Given the description of an element on the screen output the (x, y) to click on. 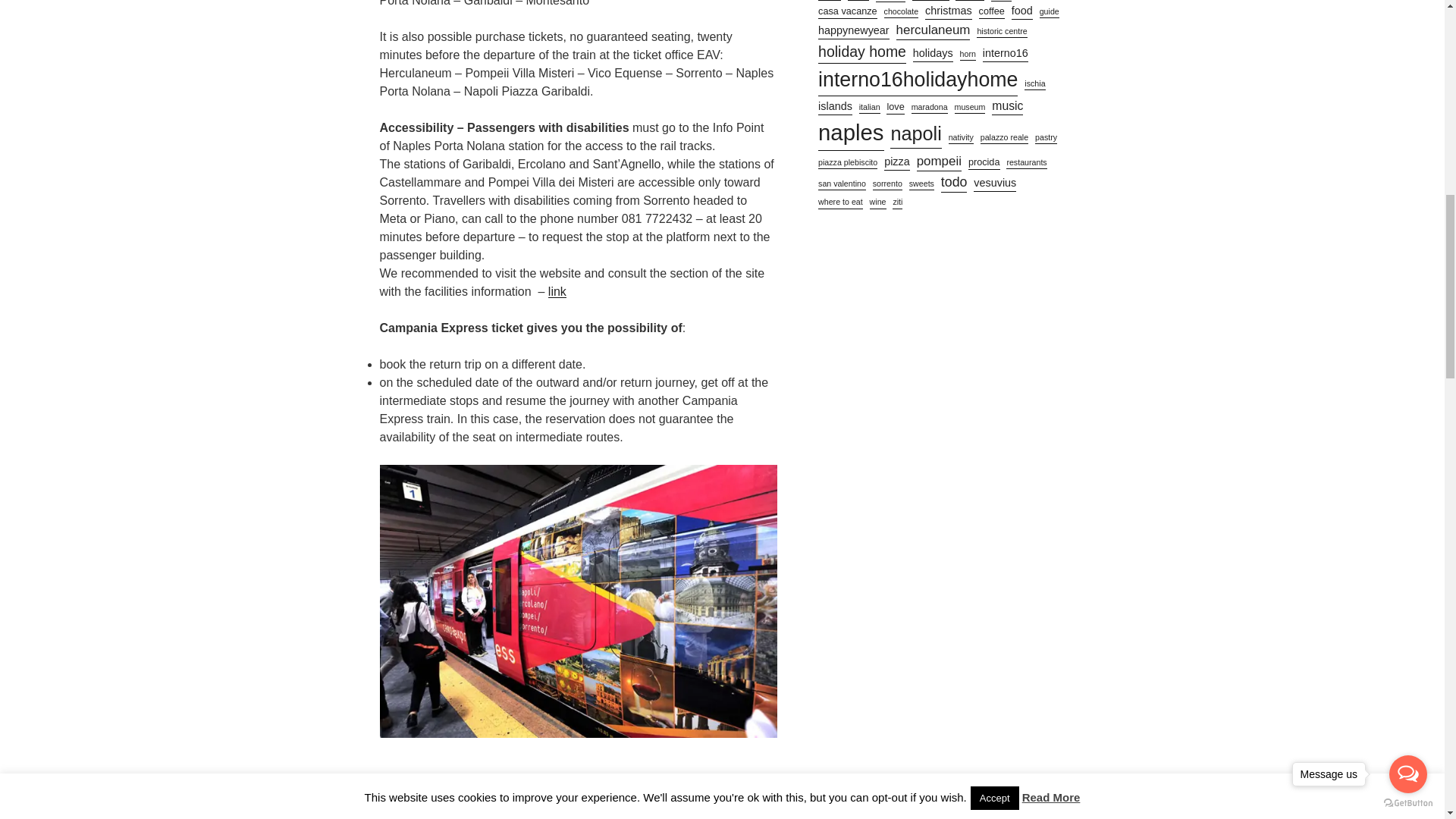
EXPLORE (463, 810)
link (557, 291)
BLOG (415, 810)
